Given the description of an element on the screen output the (x, y) to click on. 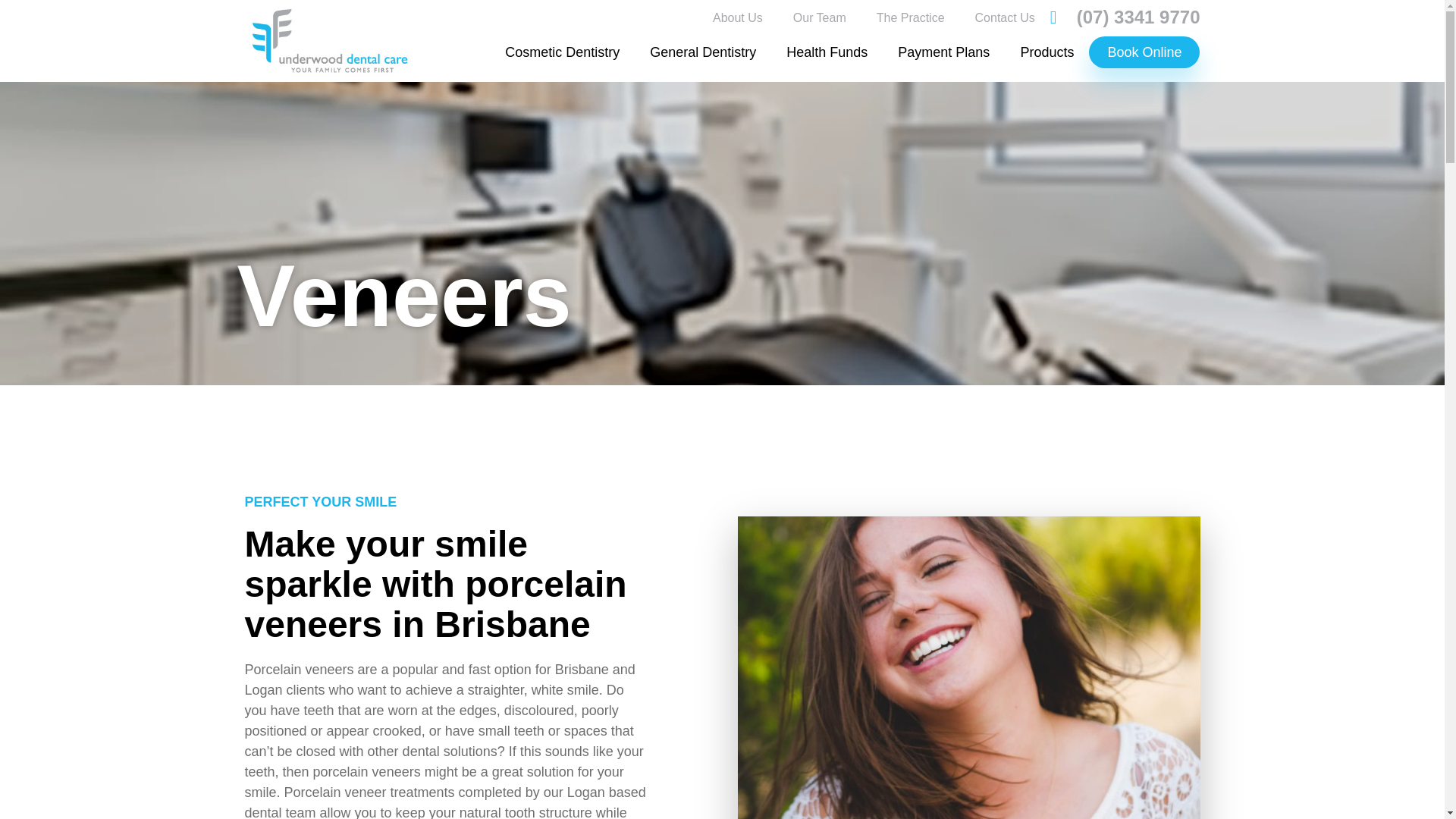
Contact Us (1004, 18)
Cosmetic Dentistry (561, 51)
Health Funds (826, 51)
General Dentistry (702, 51)
The Practice (910, 18)
Our Team (819, 18)
About Us (737, 18)
Products (1046, 51)
Payment Plans (943, 51)
